Given the description of an element on the screen output the (x, y) to click on. 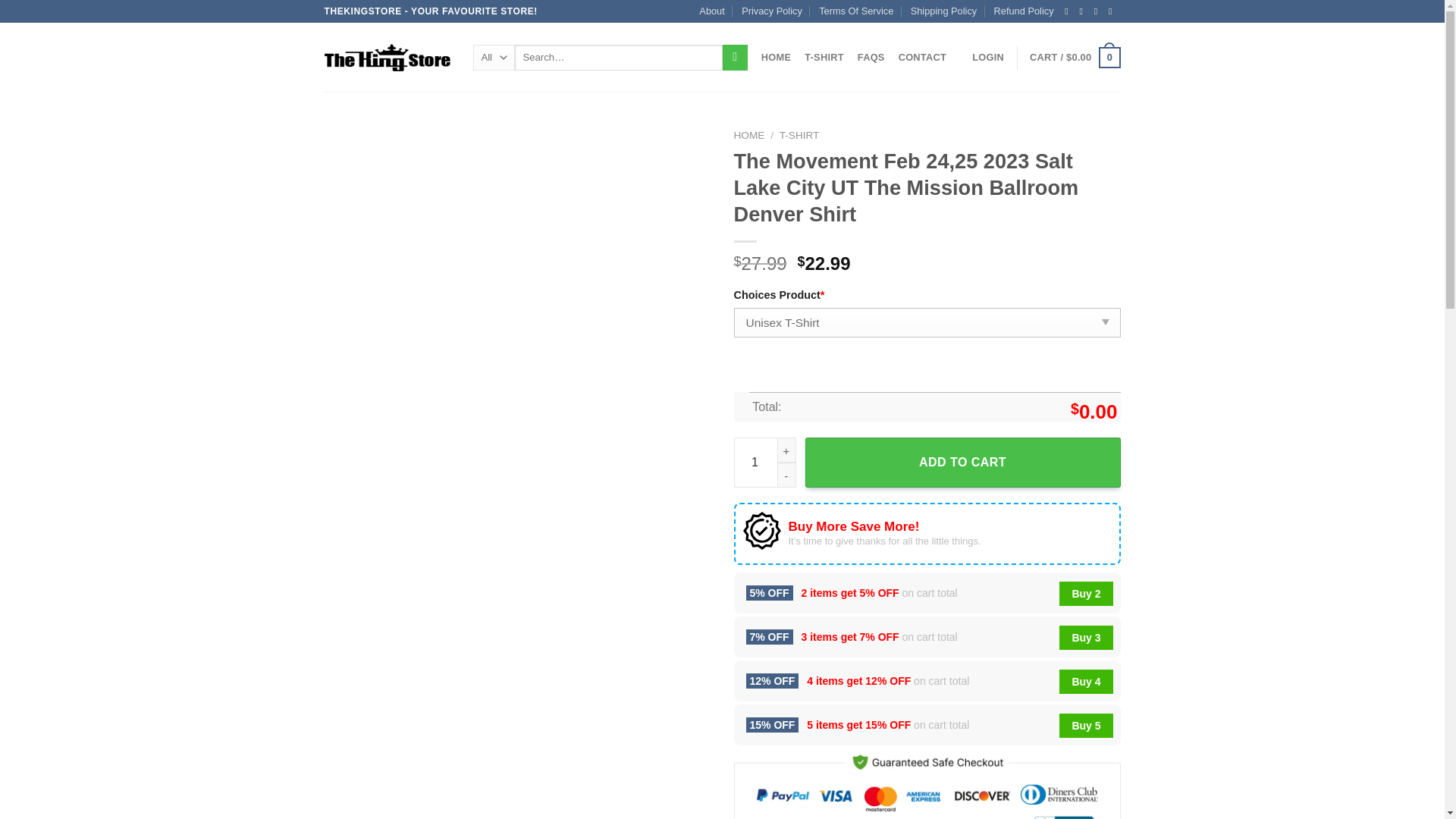
Search (735, 57)
Shipping Policy (943, 11)
Refund Policy (1024, 11)
FAQS (871, 57)
HOME (749, 134)
T-SHIRT (824, 57)
T-SHIRT (798, 134)
About (710, 11)
THE KING STORE (386, 57)
LOGIN (988, 57)
HOME (775, 57)
1 (764, 462)
ADD TO CART (963, 462)
CONTACT (922, 57)
Terms Of Service (855, 11)
